Given the description of an element on the screen output the (x, y) to click on. 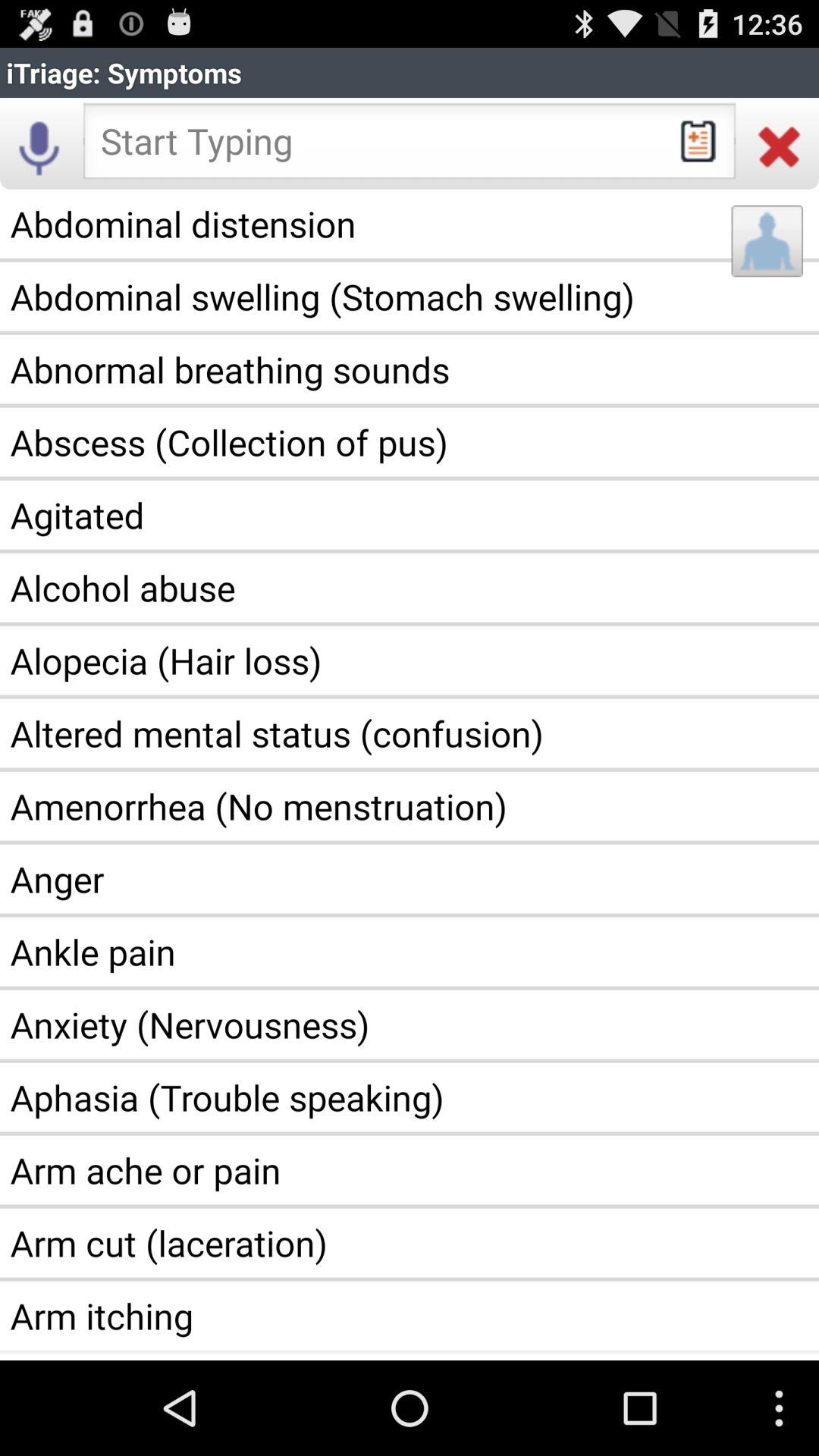
open icon above the arm cut (laceration) item (409, 1170)
